Given the description of an element on the screen output the (x, y) to click on. 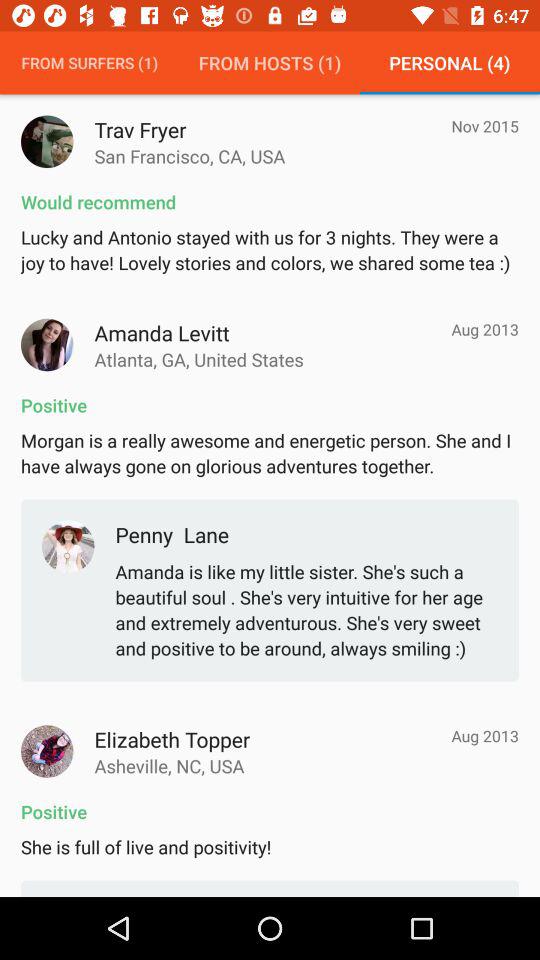
user profile picture (47, 751)
